Given the description of an element on the screen output the (x, y) to click on. 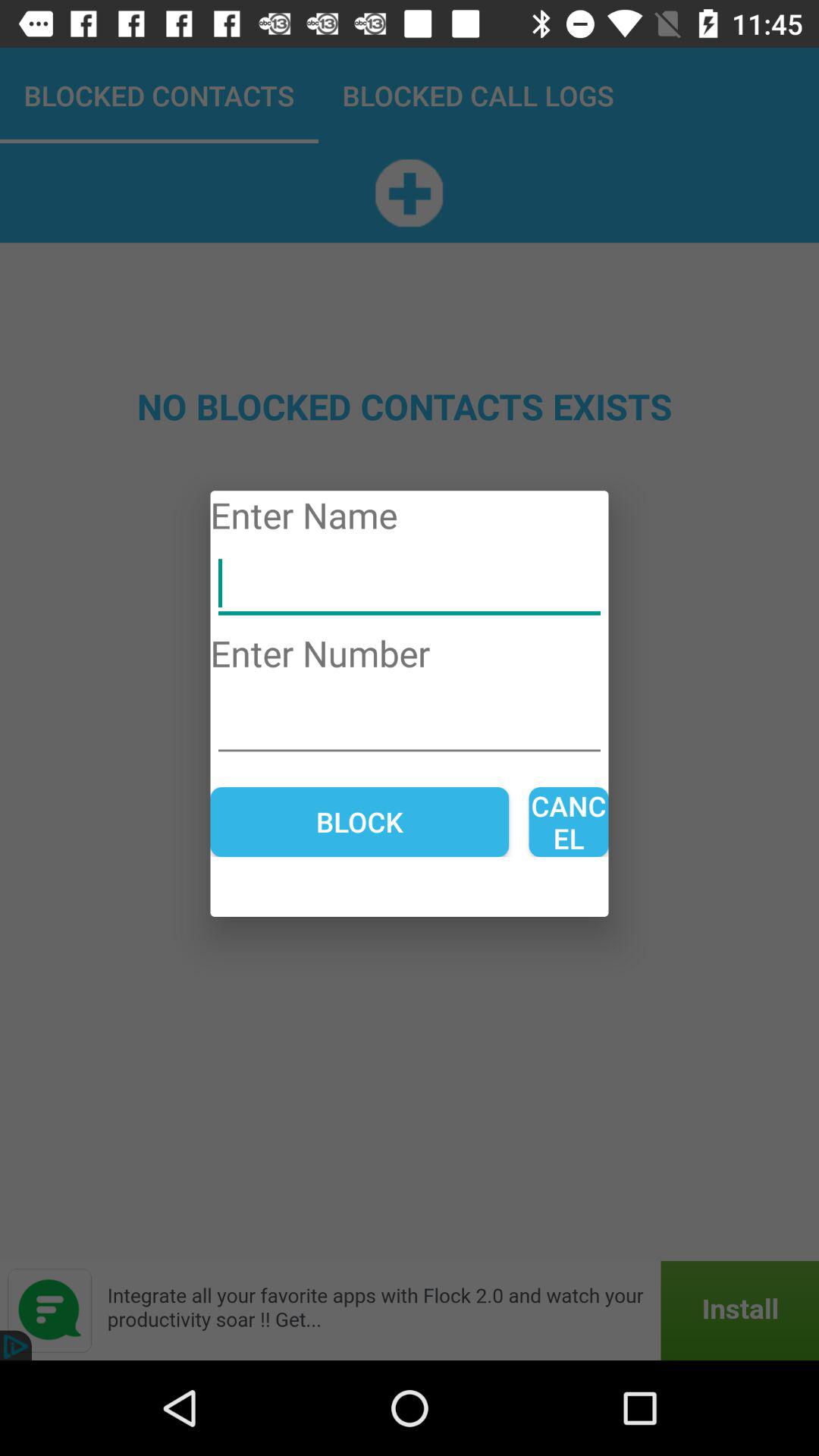
click the button to the left of the cancel icon (359, 822)
